Given the description of an element on the screen output the (x, y) to click on. 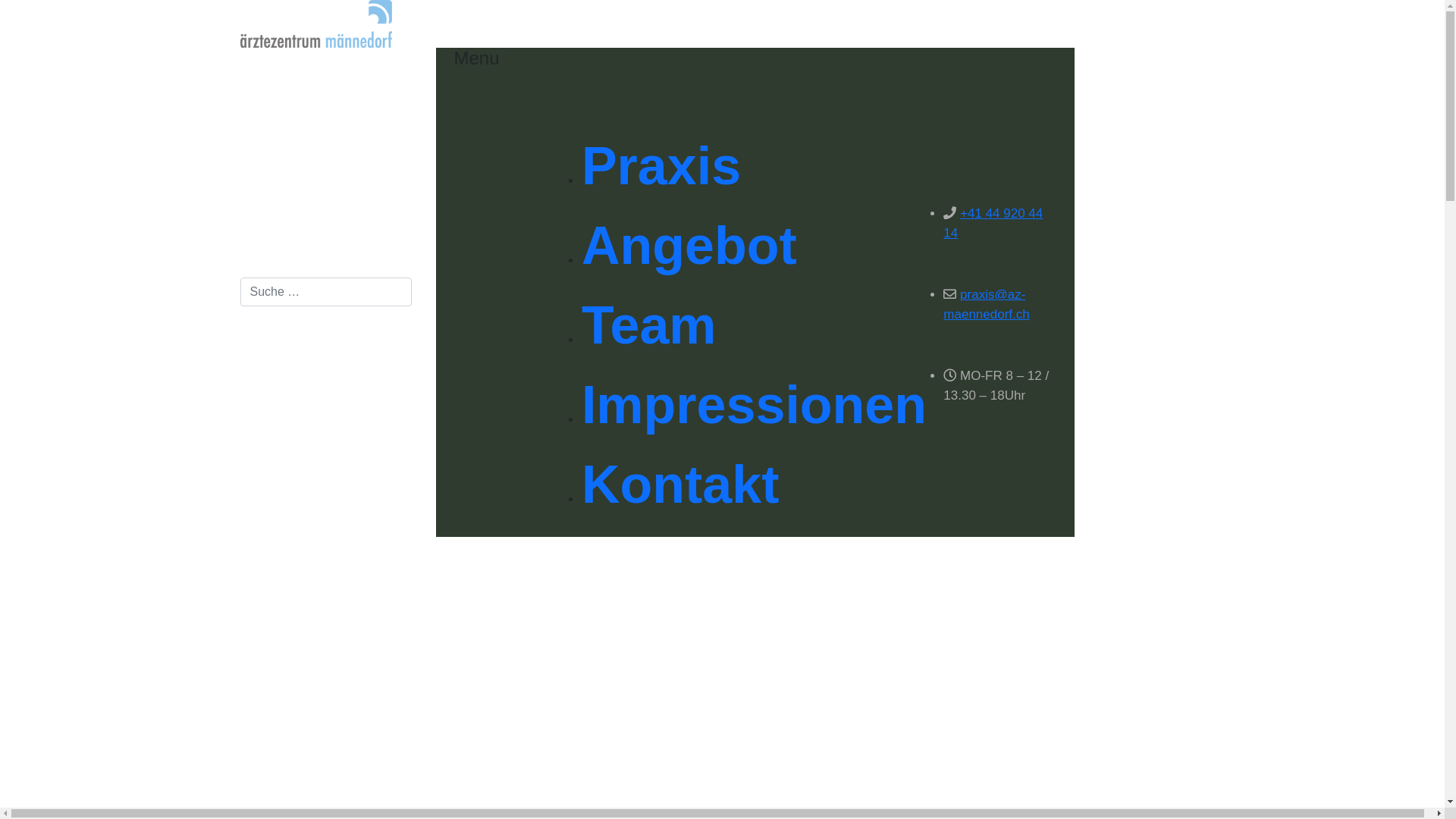
Team Element type: text (648, 324)
+41 44 920 44 14 Element type: text (992, 223)
Kontakt Element type: text (680, 484)
Angebot Element type: text (689, 245)
praxis@az-maennedorf.ch Element type: text (986, 304)
Praxis Element type: text (660, 165)
Impressionen Element type: text (753, 404)
